Given the description of an element on the screen output the (x, y) to click on. 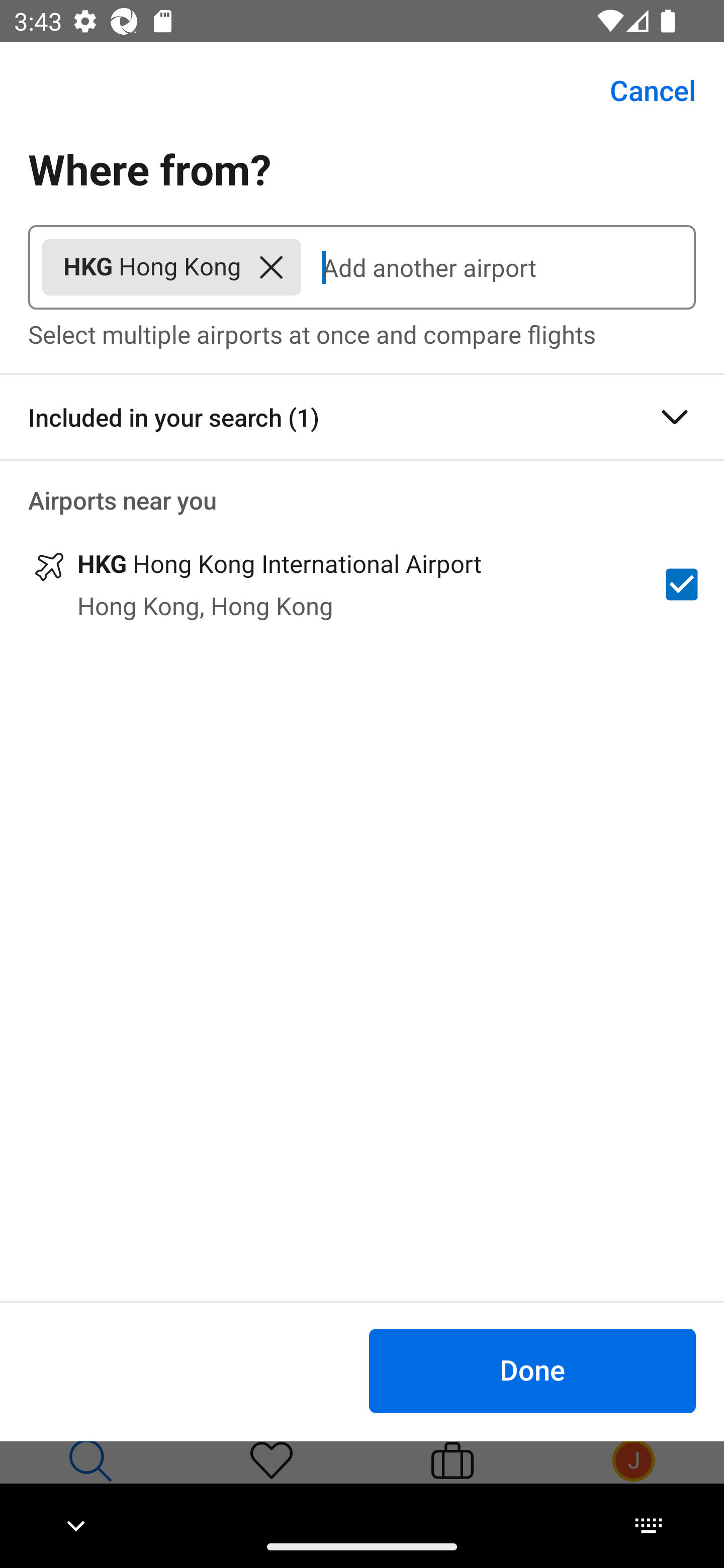
Cancel (641, 90)
Add another airport (498, 266)
HKG Hong Kong Remove HKG Hong Kong (171, 266)
Included in your search (1) (362, 416)
Done (532, 1370)
